Given the description of an element on the screen output the (x, y) to click on. 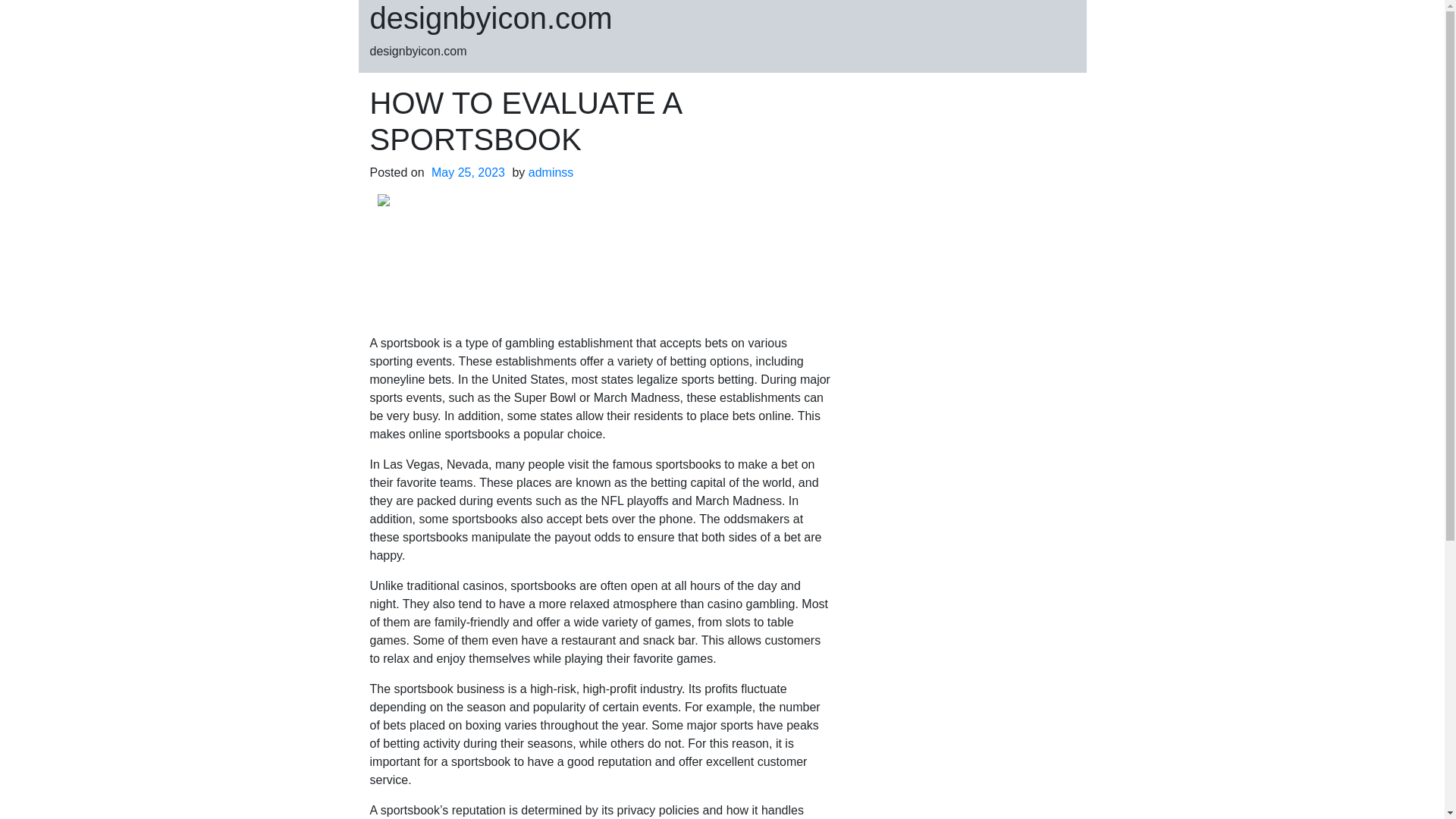
May 25, 2023 (468, 172)
adminss (550, 172)
designbyicon.com (490, 18)
